Given the description of an element on the screen output the (x, y) to click on. 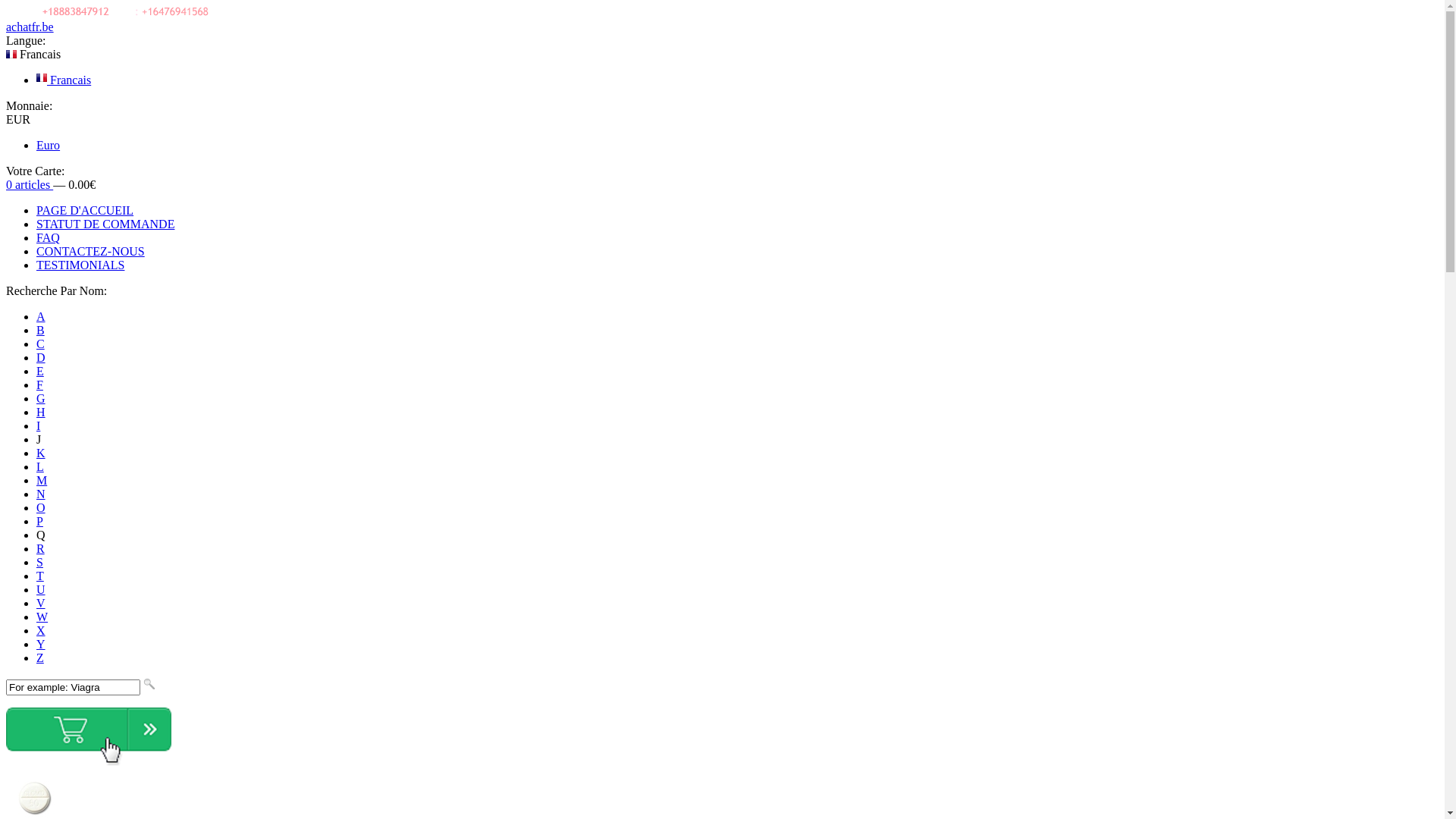
S Element type: text (39, 561)
H Element type: text (40, 411)
PAGE D'ACCUEIL Element type: text (84, 209)
P Element type: text (39, 520)
Francais Element type: hover (41, 77)
X Element type: text (40, 630)
M Element type: text (41, 479)
U Element type: text (40, 589)
D Element type: text (40, 357)
O Element type: text (40, 507)
Euro Element type: text (47, 144)
B Element type: text (40, 329)
Z Element type: text (39, 657)
N Element type: text (40, 493)
I Element type: text (38, 425)
T Element type: text (39, 575)
C Element type: text (40, 343)
FAQ Element type: text (47, 237)
E Element type: text (39, 370)
achatfr.be Element type: text (29, 26)
STATUT DE COMMANDE Element type: text (105, 223)
V Element type: text (40, 602)
W Element type: text (41, 616)
A Element type: text (40, 316)
G Element type: text (40, 398)
L Element type: text (39, 466)
Francais Element type: text (63, 79)
Y Element type: text (40, 643)
TESTIMONIALS Element type: text (80, 264)
F Element type: text (39, 384)
CONTACTEZ-NOUS Element type: text (90, 250)
R Element type: text (40, 548)
K Element type: text (40, 452)
0 articles Element type: text (29, 184)
